Given the description of an element on the screen output the (x, y) to click on. 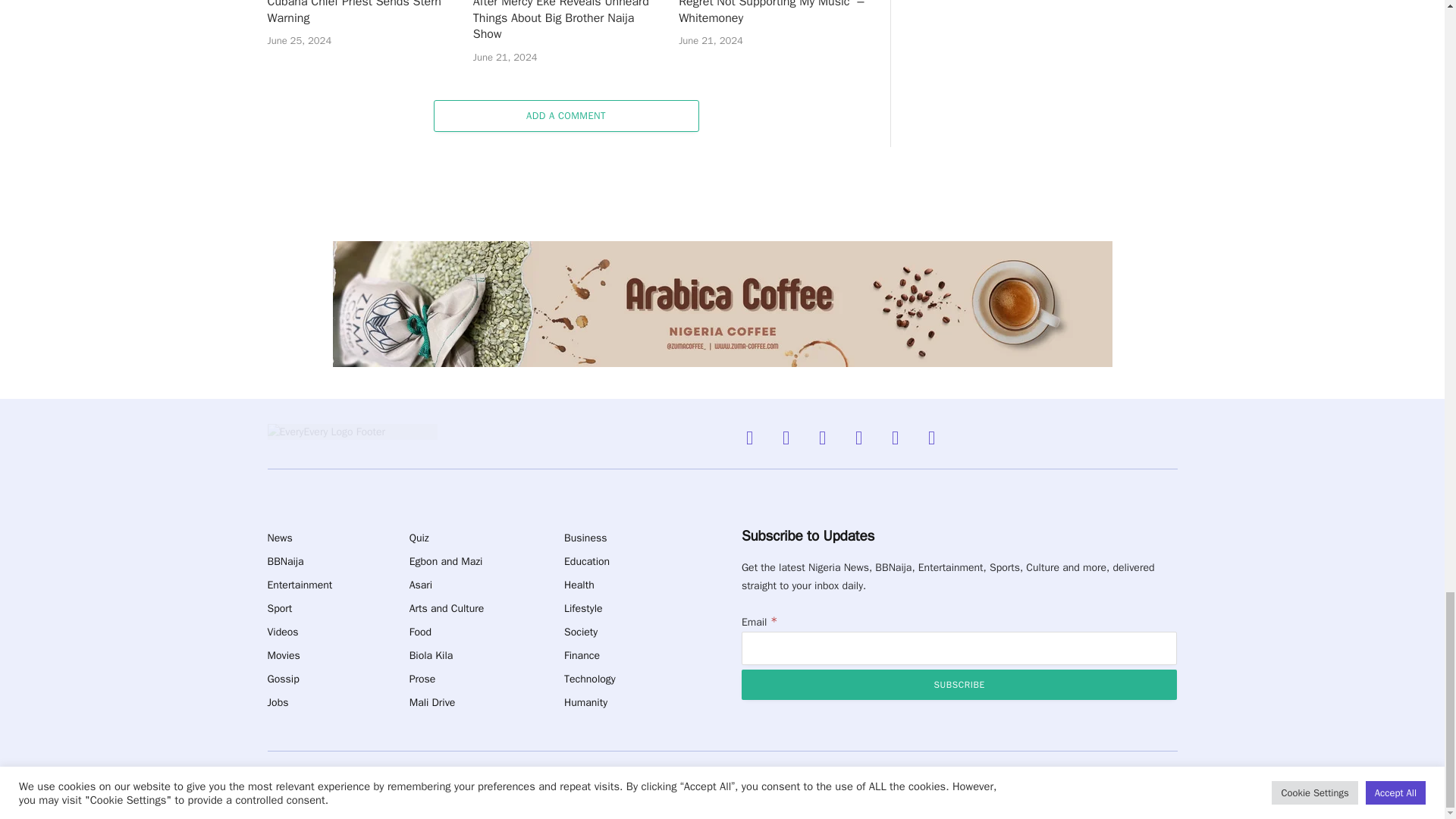
Subscribe (959, 684)
